Given the description of an element on the screen output the (x, y) to click on. 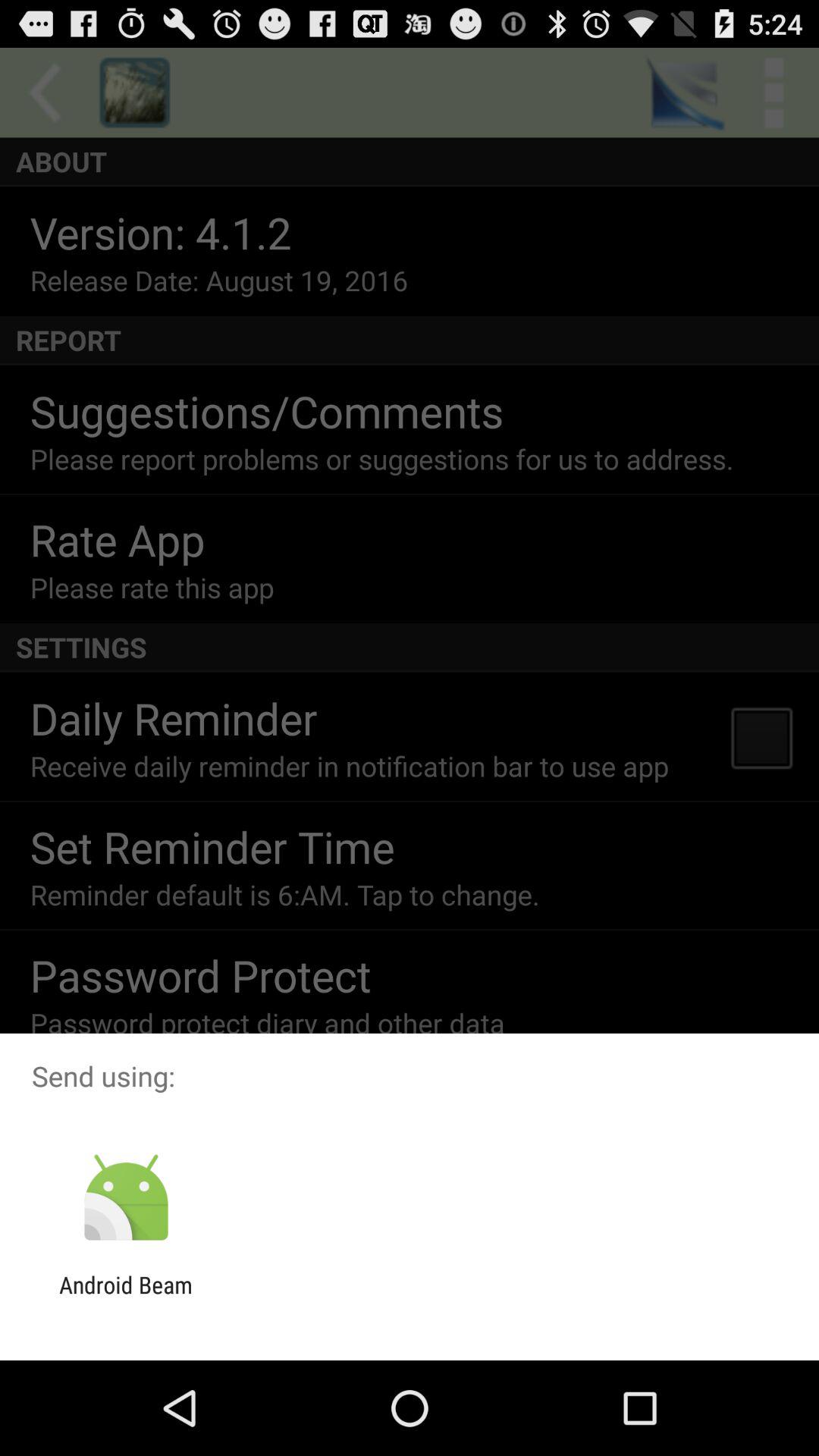
select icon above the android beam app (126, 1198)
